Given the description of an element on the screen output the (x, y) to click on. 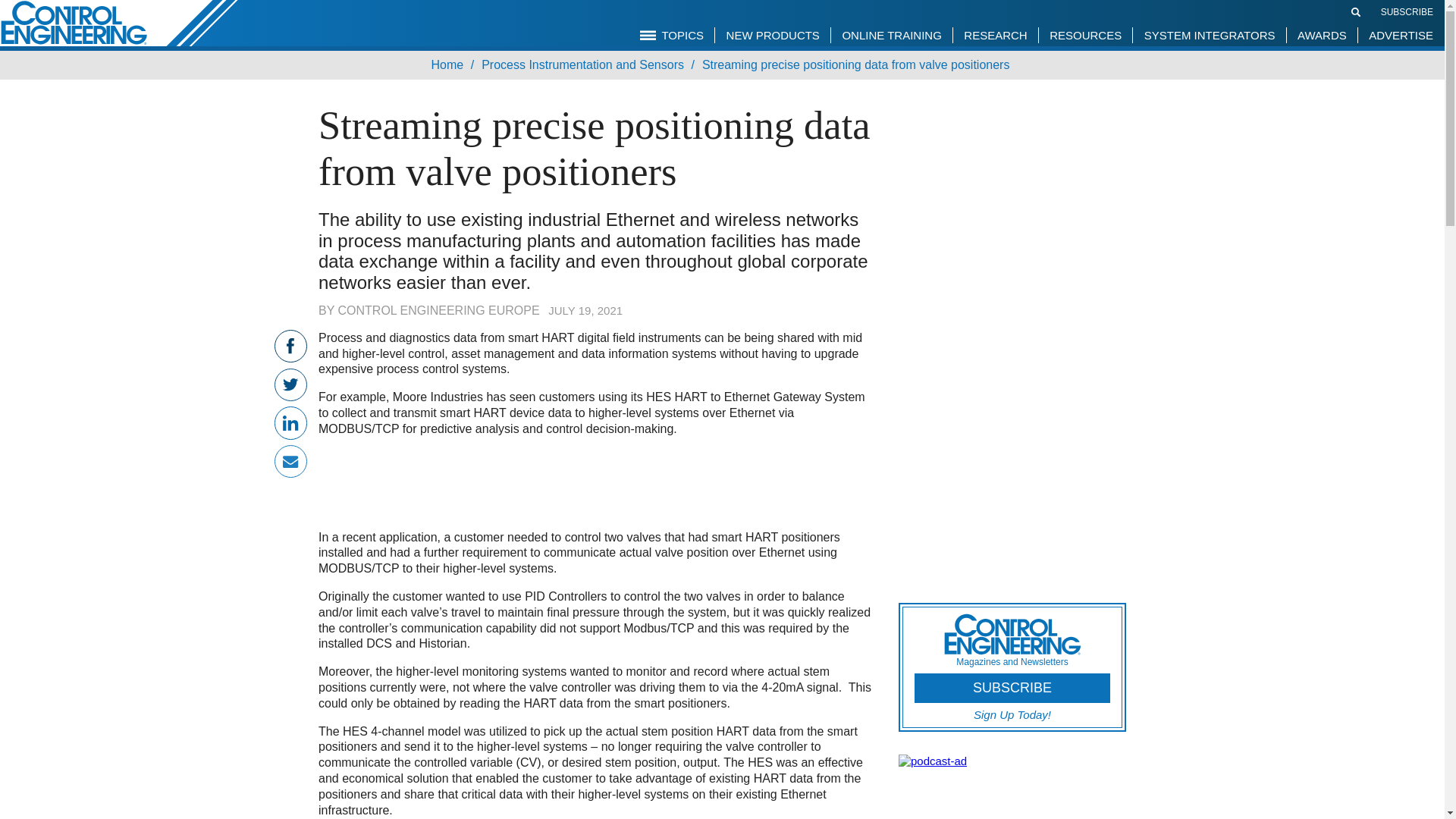
ONLINE TRAINING (890, 34)
NEW PRODUCTS (772, 34)
RESEARCH (995, 34)
Search (1356, 11)
RESOURCES (1085, 34)
TOPICS (671, 34)
SYSTEM INTEGRATORS (1209, 34)
SUBSCRIBE (1406, 11)
